Given the description of an element on the screen output the (x, y) to click on. 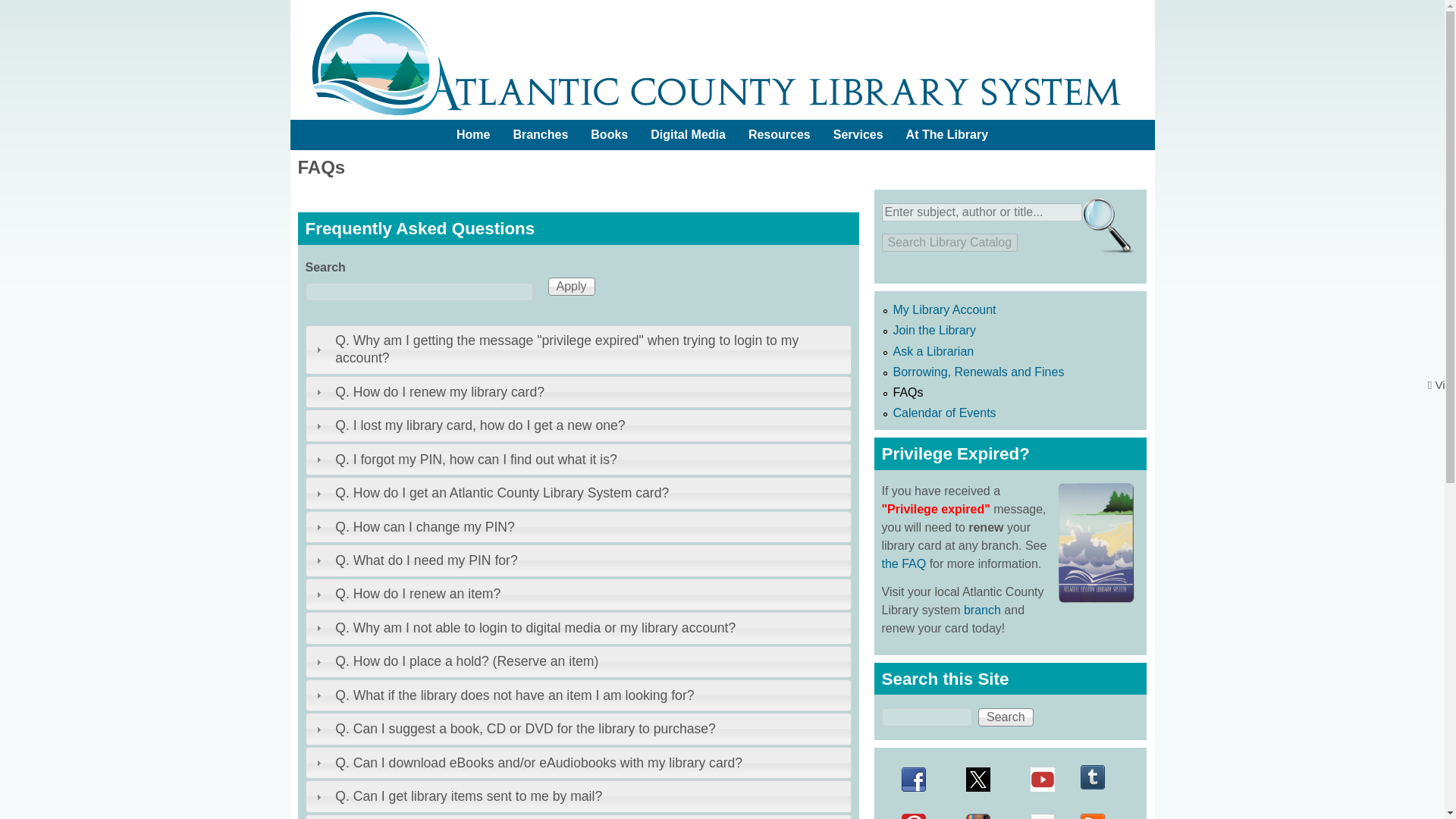
Home (472, 134)
Digital Media (687, 134)
Library Branches (539, 134)
Services (858, 134)
Search Library Catalog (948, 242)
Search (1005, 717)
Branches (539, 134)
Books (609, 134)
Catalogs and Book News (609, 134)
Home (472, 134)
Apply (570, 286)
Resources (779, 134)
